Given the description of an element on the screen output the (x, y) to click on. 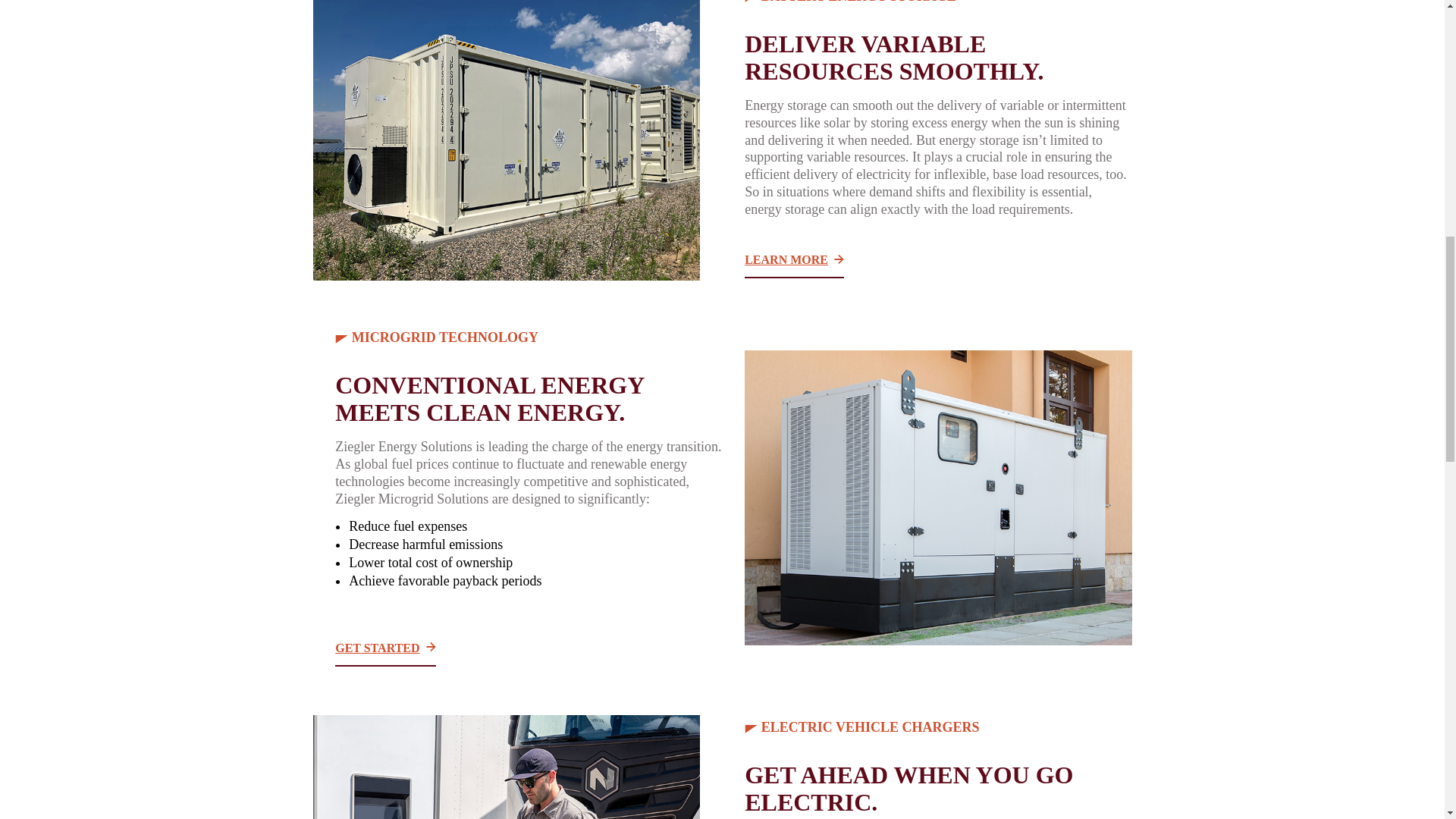
SolarPlus (505, 140)
EnergyStation (505, 766)
GET STARTED (384, 648)
ziegler-solu-microtech (937, 497)
LEARN MORE (794, 260)
